Given the description of an element on the screen output the (x, y) to click on. 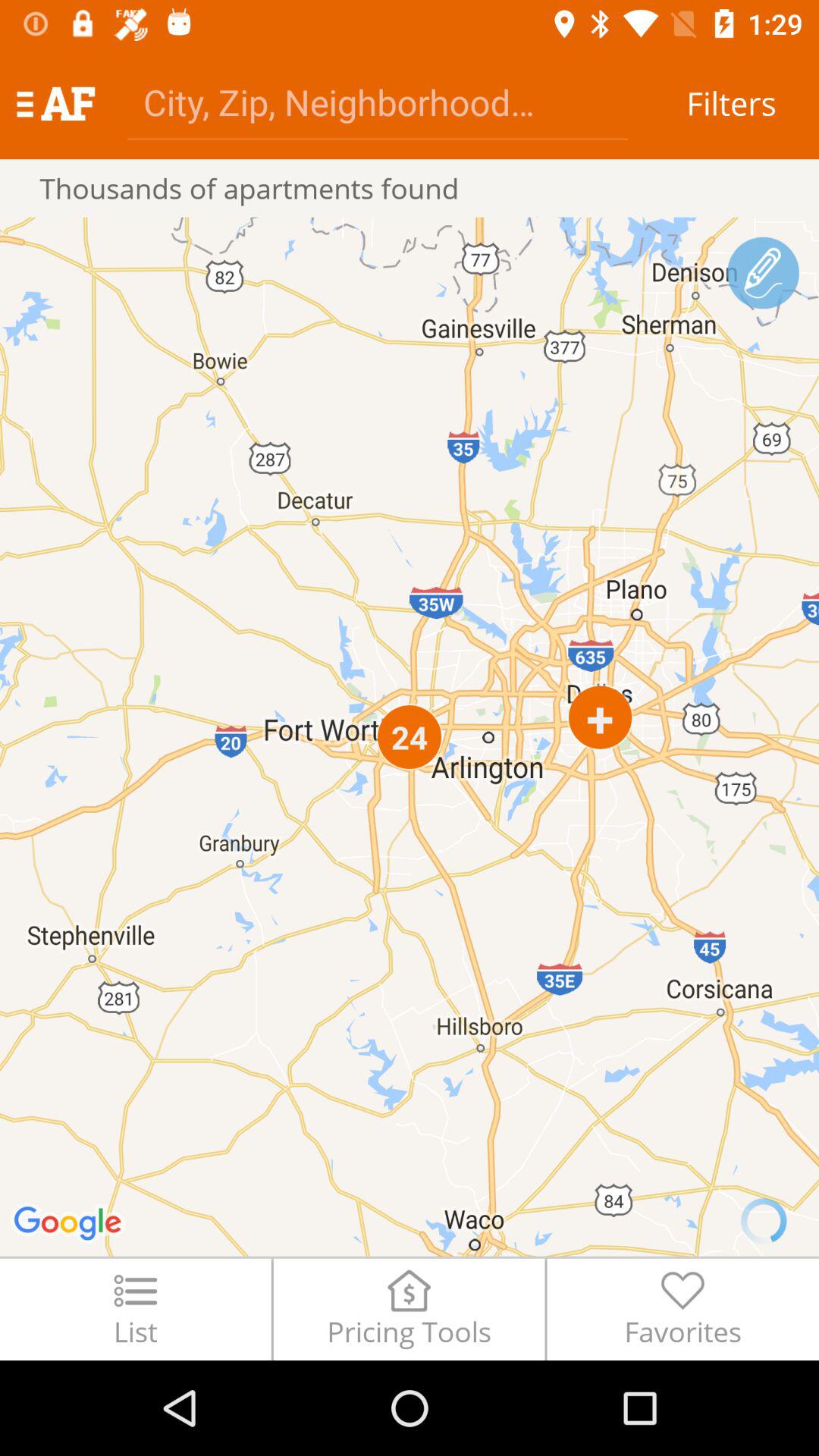
choose the icon to the left of favorites icon (408, 1309)
